Given the description of an element on the screen output the (x, y) to click on. 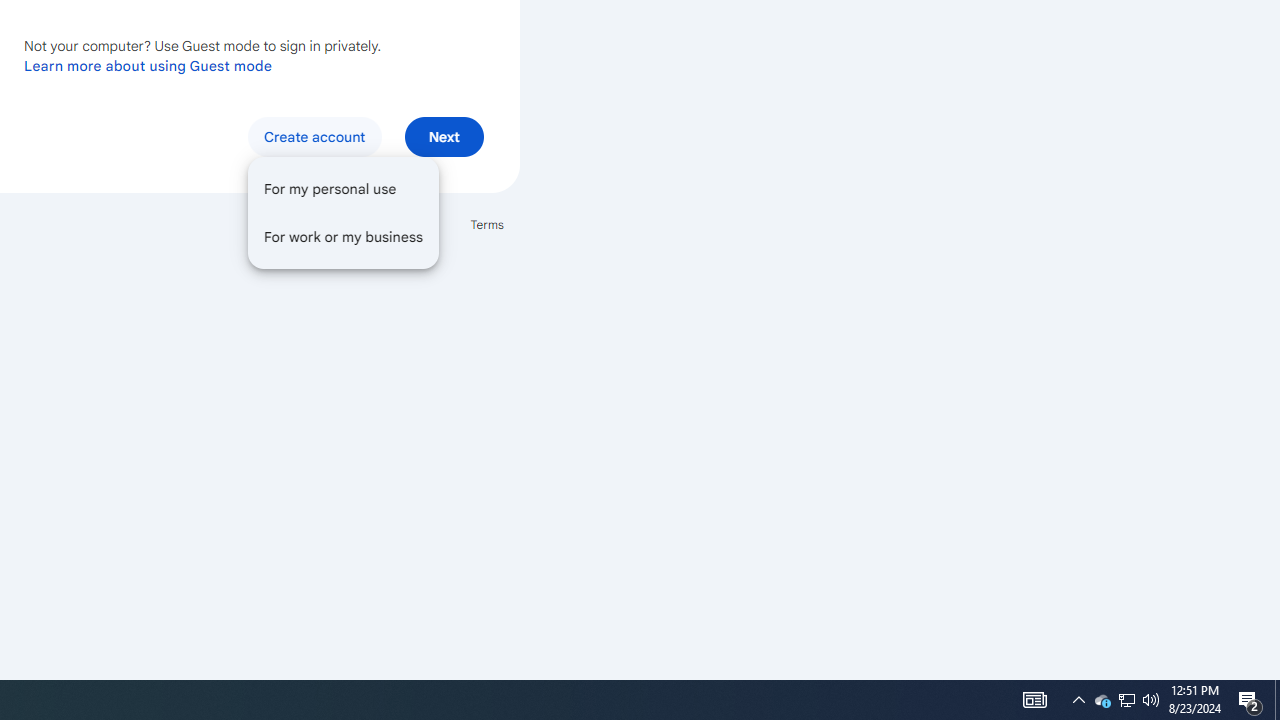
For my personal use (343, 188)
Next (443, 135)
Learn more about using Guest mode (148, 65)
For work or my business (343, 235)
Create account (314, 135)
Create account (343, 212)
